Given the description of an element on the screen output the (x, y) to click on. 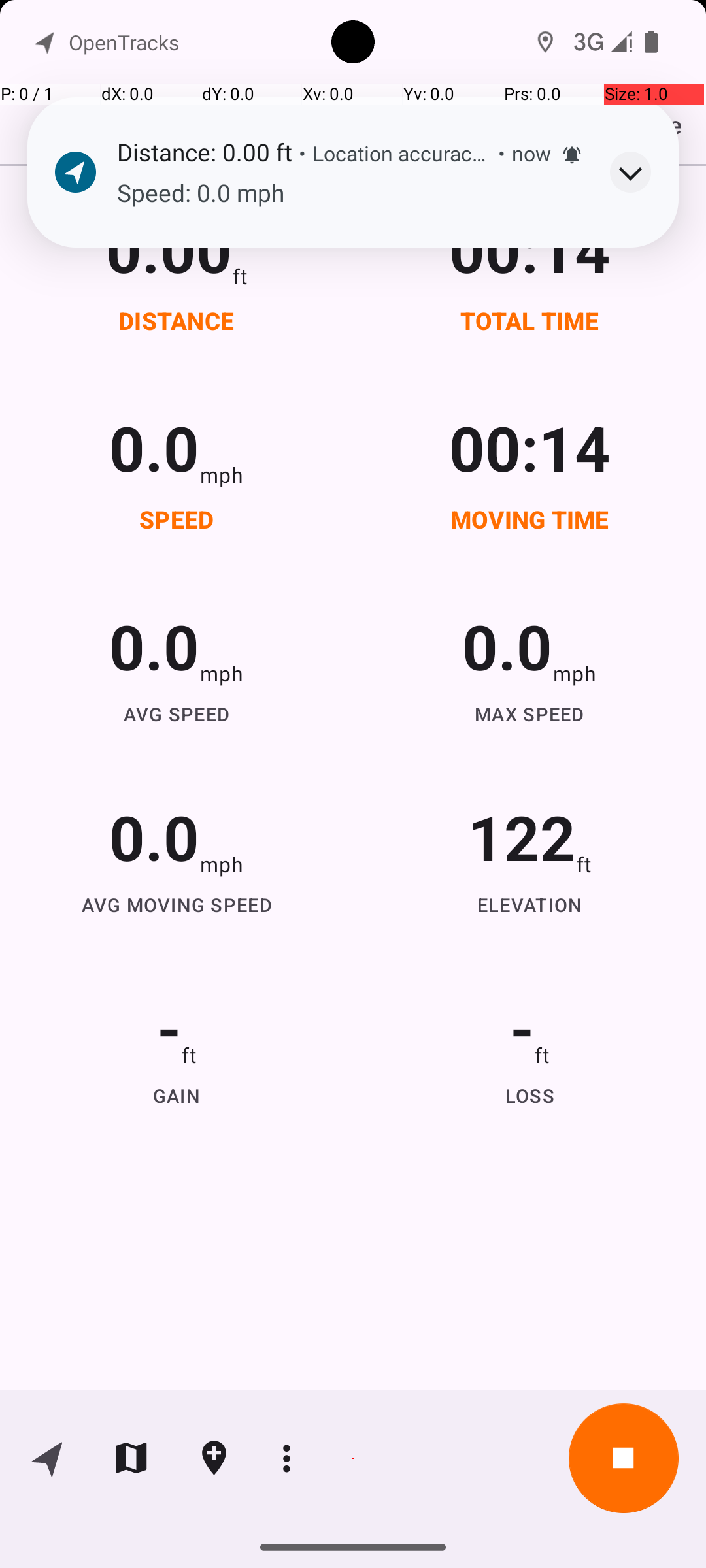
Insert marker Element type: android.widget.Button (213, 1458)
Stop Element type: android.widget.ImageButton (623, 1458)
0.00 Element type: android.widget.TextView (168, 248)
00:14 Element type: android.widget.TextView (529, 248)
0.0 Element type: android.widget.TextView (154, 446)
SPEED Element type: android.widget.TextView (176, 518)
AVG SPEED Element type: android.widget.TextView (176, 713)
MAX SPEED Element type: android.widget.TextView (529, 713)
AVG MOVING SPEED Element type: android.widget.TextView (176, 904)
122 Element type: android.widget.TextView (521, 836)
ELEVATION Element type: android.widget.TextView (529, 904)
- Element type: android.widget.TextView (168, 1026)
Off Element type: android.widget.Switch (518, 46)
Bright Lights by Isla is playing from Retro Music Element type: android.view.ViewGroup (352, 245)
This phone Element type: android.widget.LinearLayout (584, 128)
Bright Lights Element type: android.widget.TextView (131, 241)
Isla Element type: android.widget.TextView (73, 276)
Play Element type: android.widget.ImageButton (609, 252)
Previous track Element type: android.widget.ImageButton (68, 361)
00:00 of 04:03 Element type: android.widget.SeekBar (270, 361)
Next track Element type: android.widget.ImageButton (472, 361)
Cycle repeat mode Element type: android.widget.ImageButton (554, 361)
Toggle shuffle mode Element type: android.widget.ImageButton (637, 361)
Speed: 0.0 mph Element type: android.widget.TextView (349, 192)
Expand Element type: android.widget.Button (630, 172)
Media device Element type: android.widget.LinearLayout (571, 135)
Distance: 0.00 ft Element type: android.widget.TextView (204, 151)
• Element type: android.widget.TextView (301, 153)
Location accuracy: 16.40 ft Element type: android.widget.TextView (401, 153)
now Element type: android.widget.TextView (531, 153)
Alerted Element type: android.widget.ImageView (571, 154)
